Given the description of an element on the screen output the (x, y) to click on. 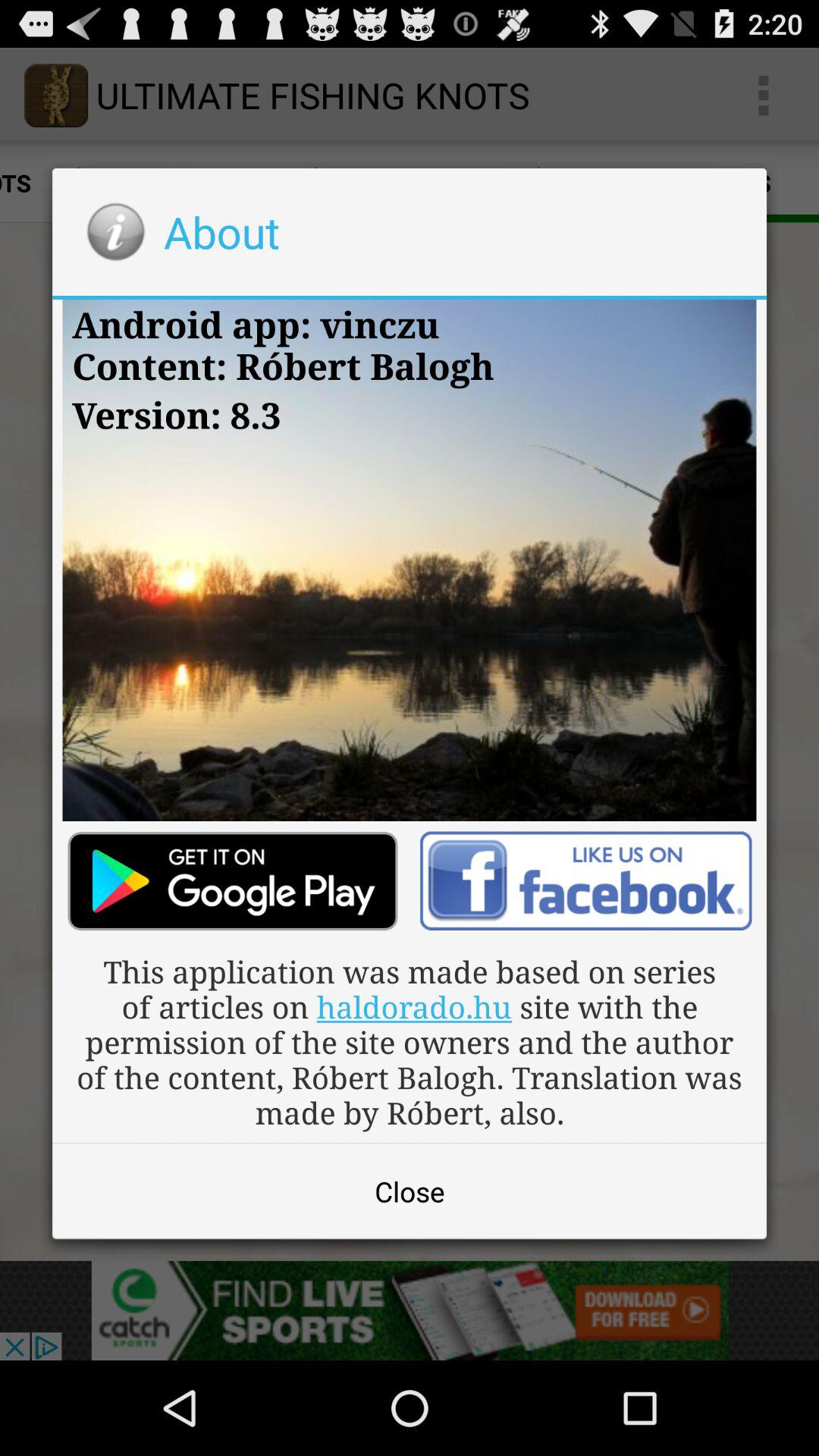
open the close item (409, 1191)
